Given the description of an element on the screen output the (x, y) to click on. 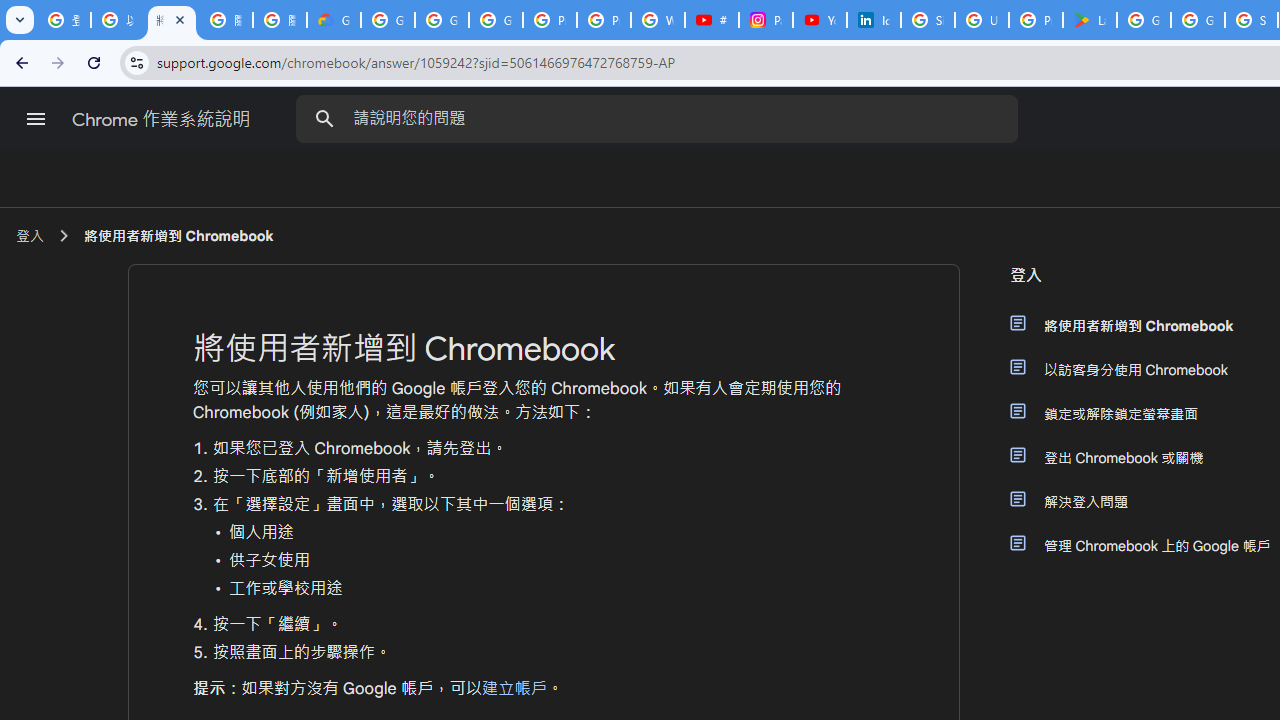
Forward (57, 62)
YouTube Culture & Trends - On The Rise: Handcam Videos (819, 20)
